Given the description of an element on the screen output the (x, y) to click on. 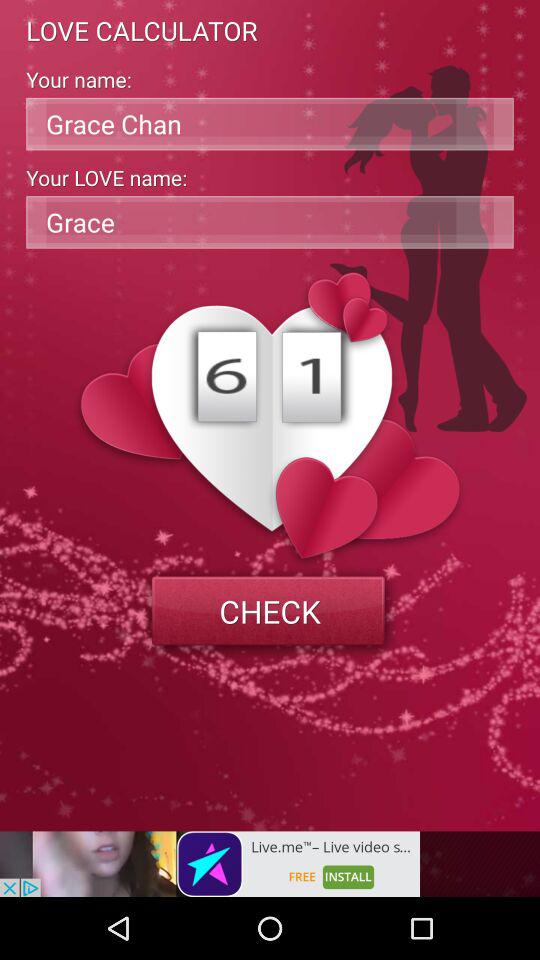
adverts (210, 864)
